Given the description of an element on the screen output the (x, y) to click on. 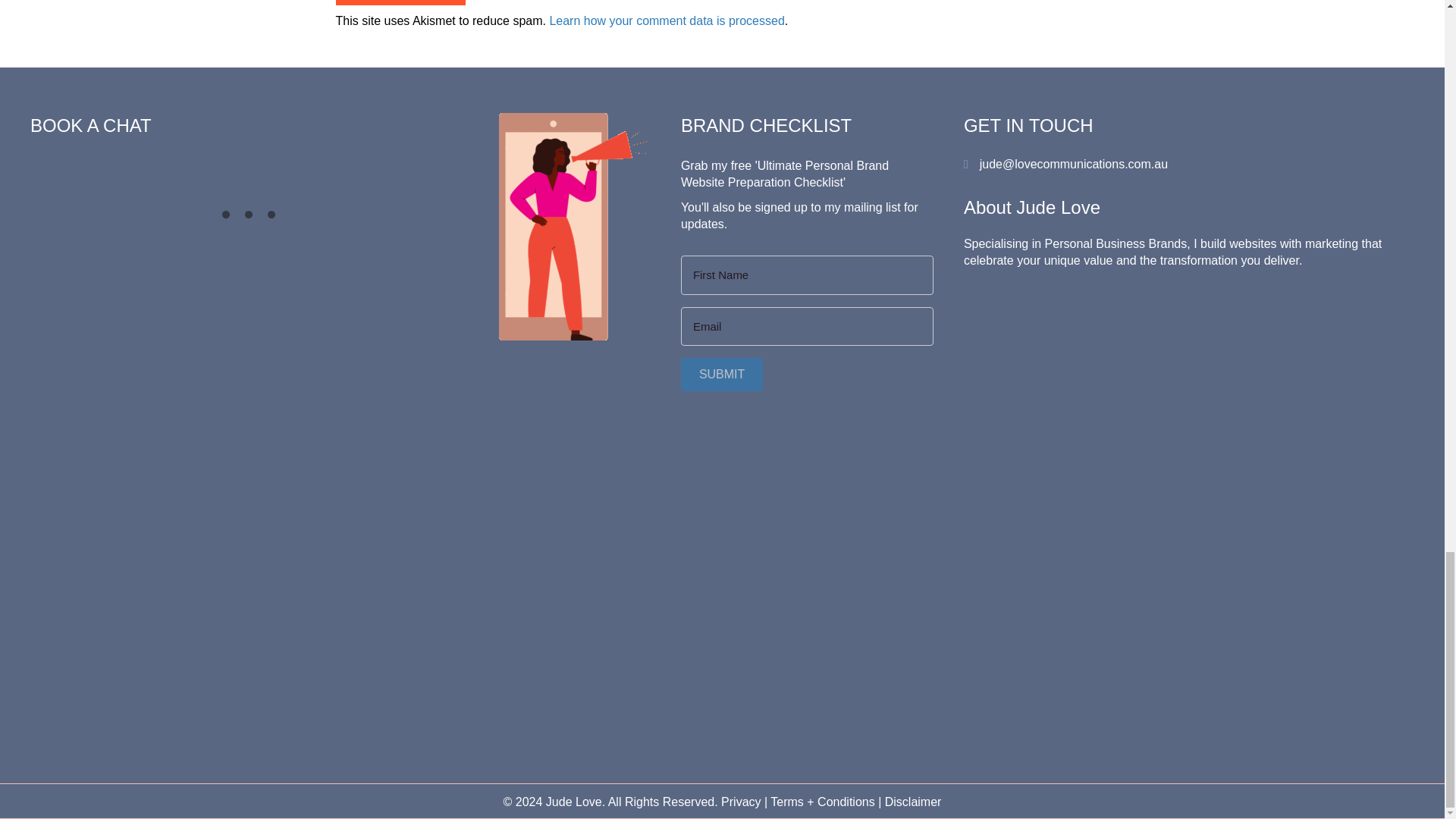
Submit (721, 373)
Submit Comment (399, 2)
Privacy (740, 801)
Disclaimer (913, 801)
Submit Comment (399, 2)
Submit (721, 373)
Learn how your comment data is processed (666, 20)
